Given the description of an element on the screen output the (x, y) to click on. 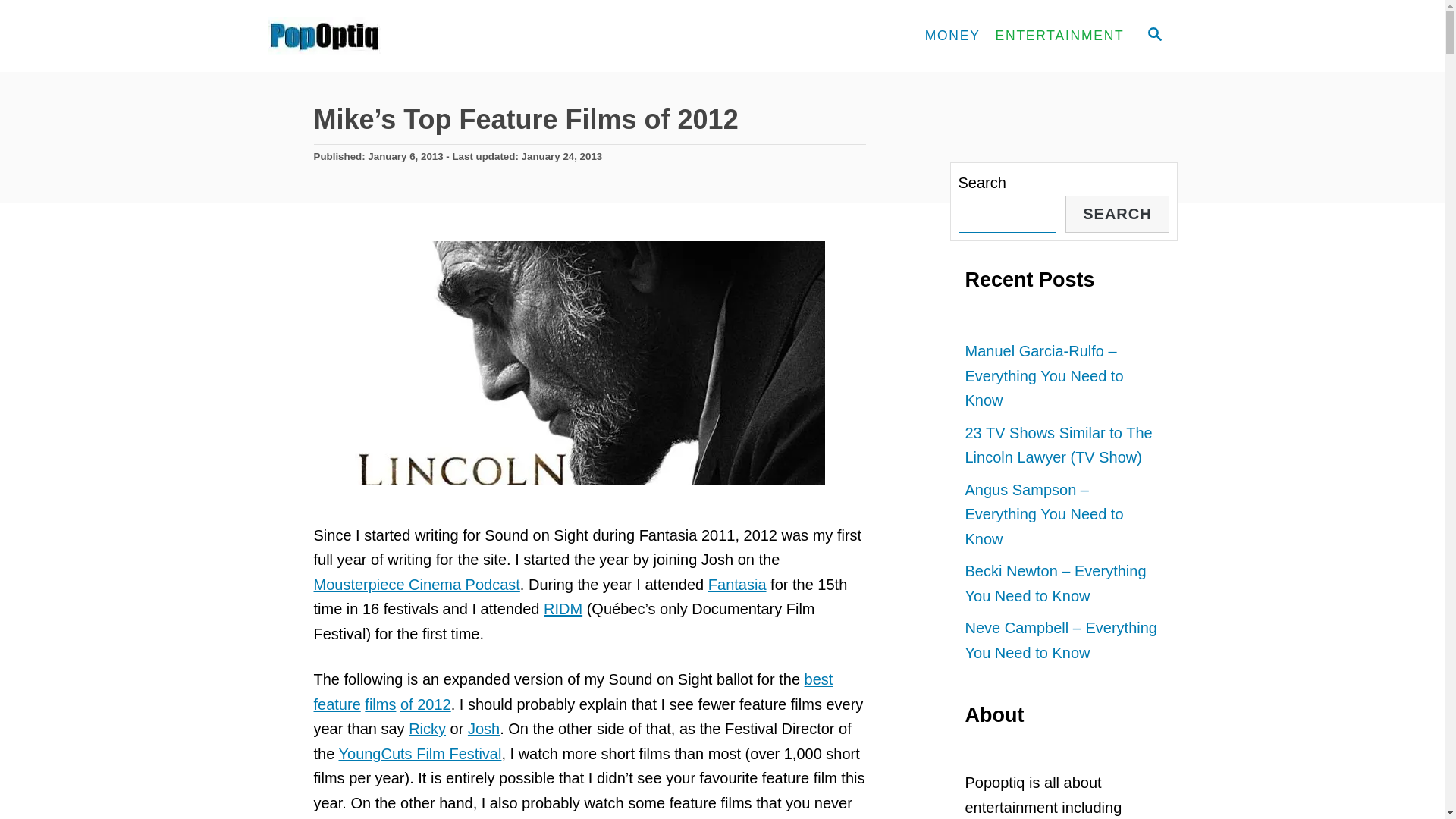
ENTERTAINMENT (1060, 36)
films (380, 704)
Fantasia (737, 584)
Mousterpiece Cinema Podcast (416, 584)
SEARCH (1153, 35)
MONEY (952, 36)
Ricky (427, 728)
Josh (483, 728)
YoungCuts Film Festival (418, 753)
PopOptiq (403, 36)
